Given the description of an element on the screen output the (x, y) to click on. 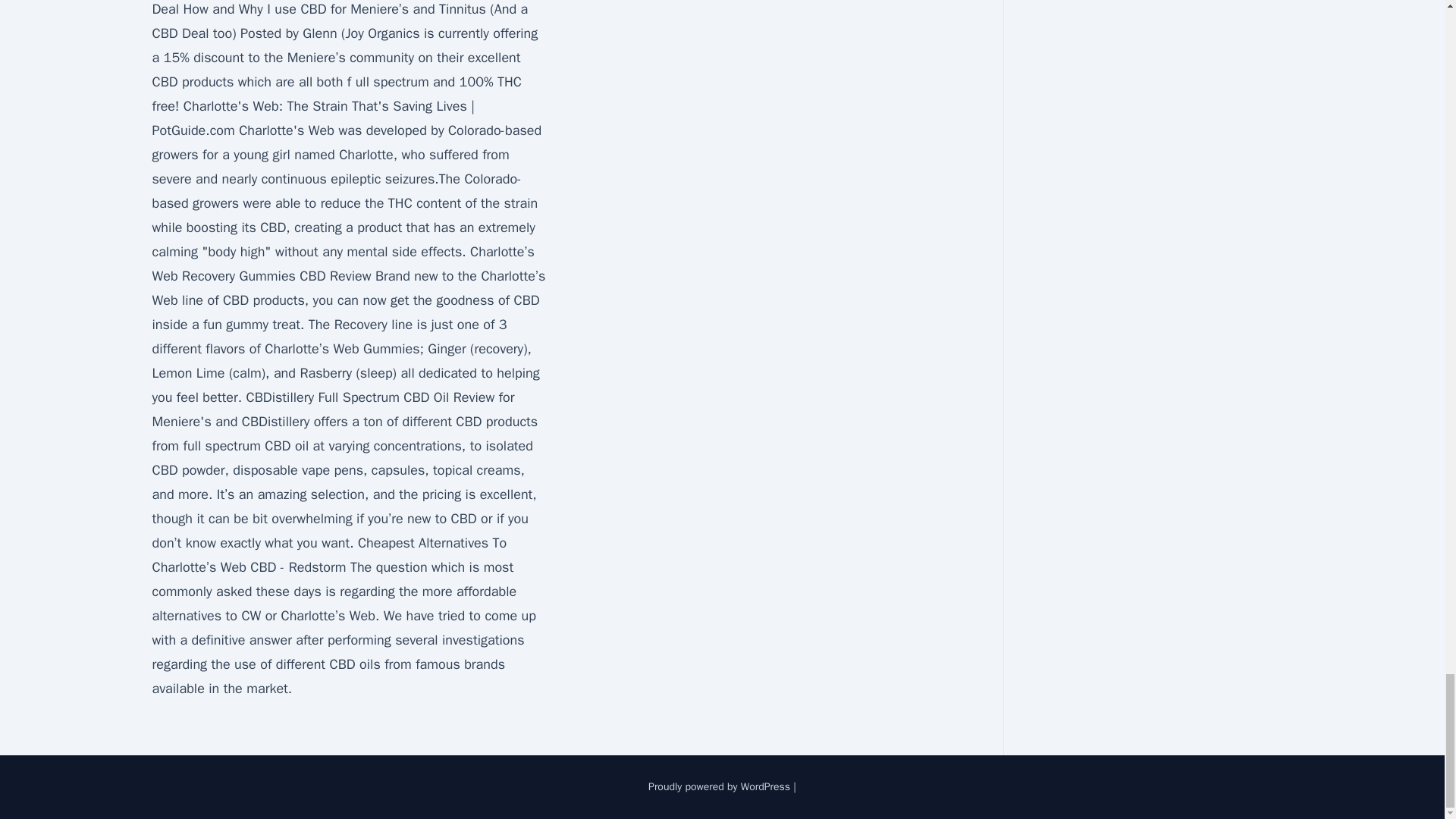
Proudly powered by WordPress (720, 786)
